Given the description of an element on the screen output the (x, y) to click on. 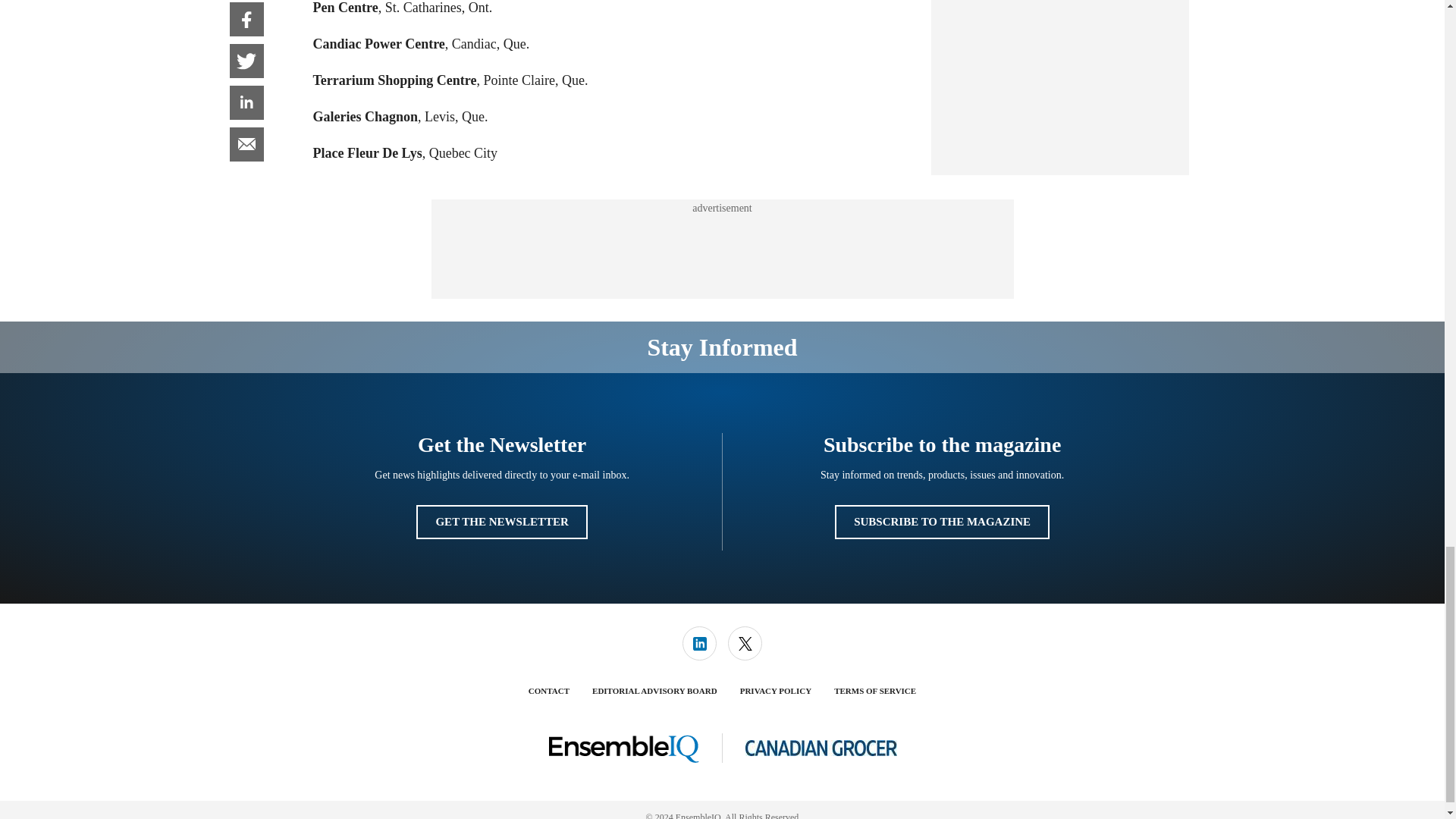
3rd party ad content (721, 249)
